Given the description of an element on the screen output the (x, y) to click on. 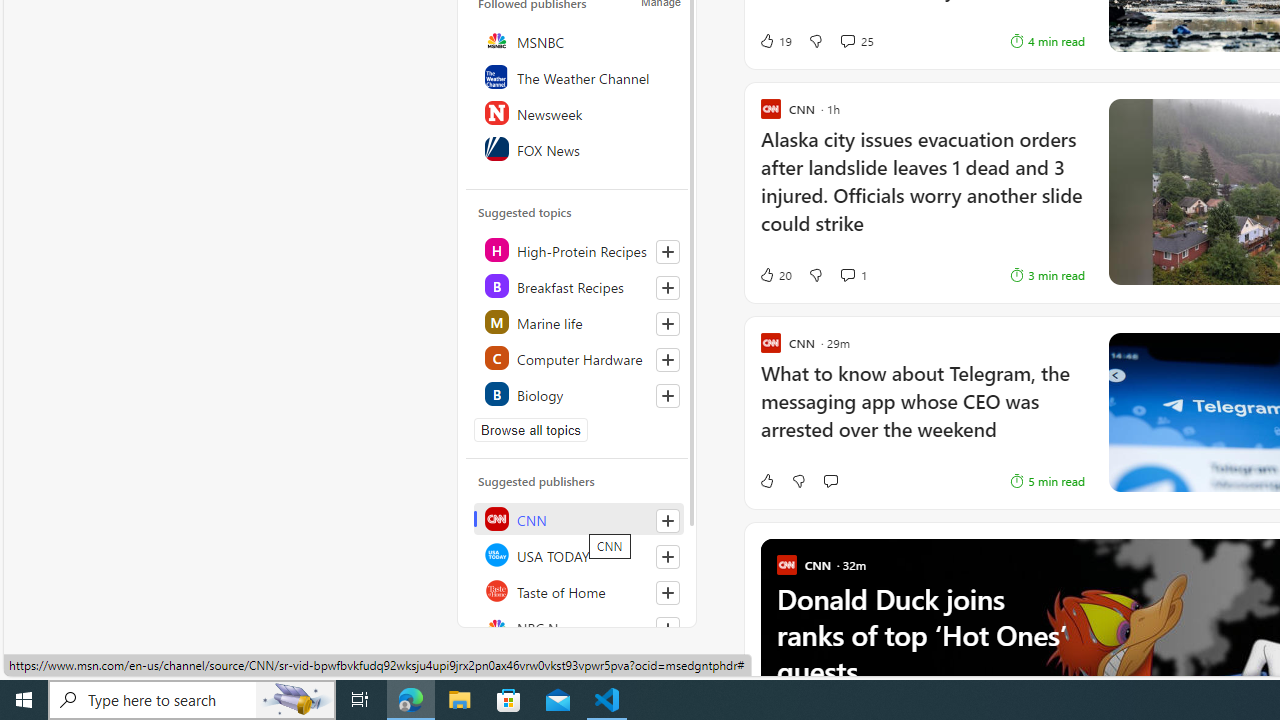
MSNBC (578, 40)
NBC News (578, 626)
Follow this topic (667, 395)
The Weather Channel (578, 76)
20 Like (775, 274)
Class: highlight (578, 393)
Follow this topic (667, 395)
View comments 1 Comment (852, 274)
Start the conversation (830, 480)
Follow this source (667, 628)
View comments 1 Comment (847, 274)
Dislike (798, 480)
